Given the description of an element on the screen output the (x, y) to click on. 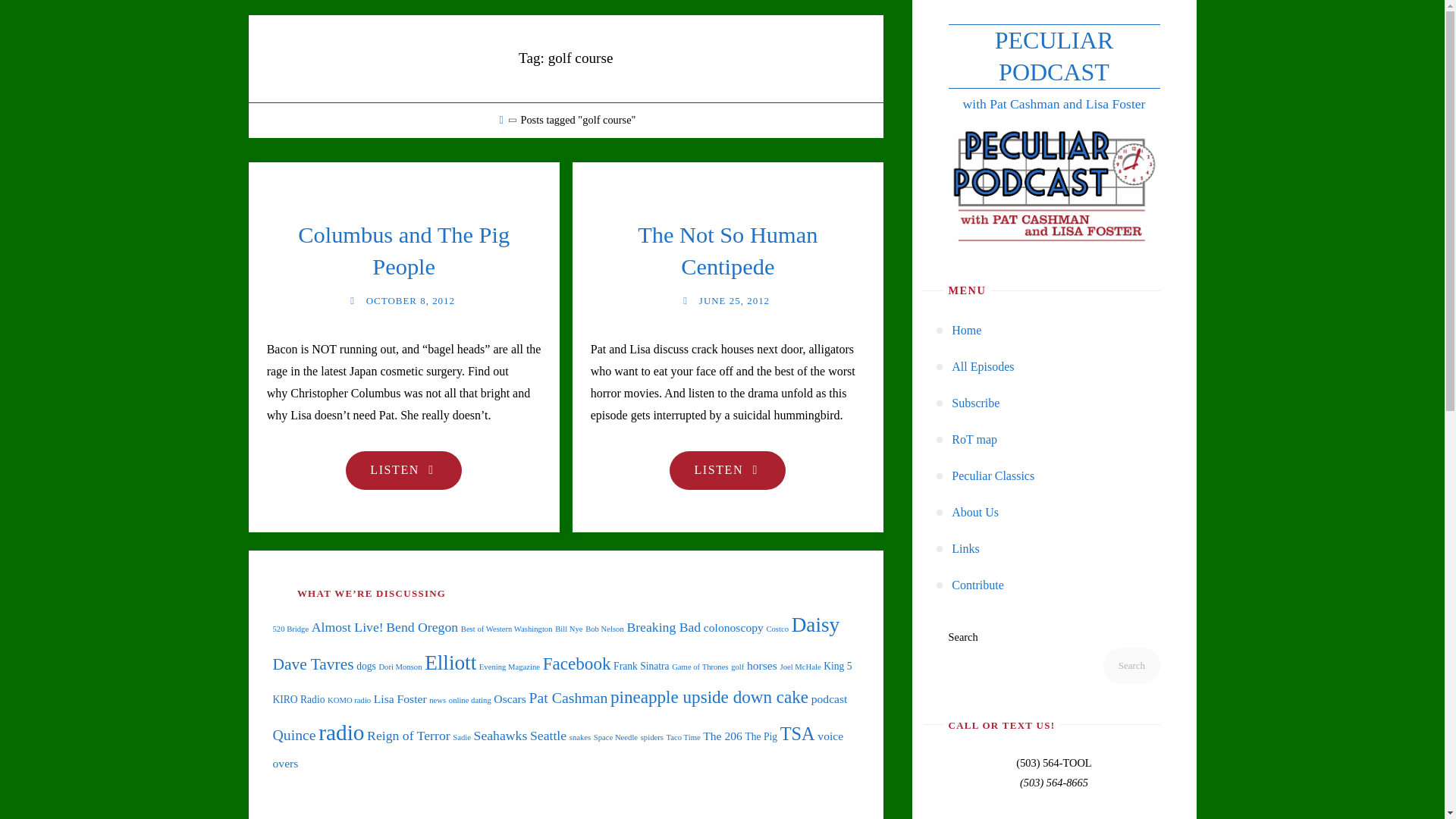
Date (352, 300)
RoT map (974, 439)
Contribute (727, 470)
with Pat Cashman and Lisa Foster (977, 585)
PECULIAR PODCAST (403, 470)
About Us (1052, 56)
Date (1052, 56)
Search (975, 512)
The Not So Human Centipede (685, 300)
Subscribe (1130, 665)
Columbus and The Pig People (726, 250)
Past episodes (975, 402)
Peculiar Classics (403, 250)
